Given the description of an element on the screen output the (x, y) to click on. 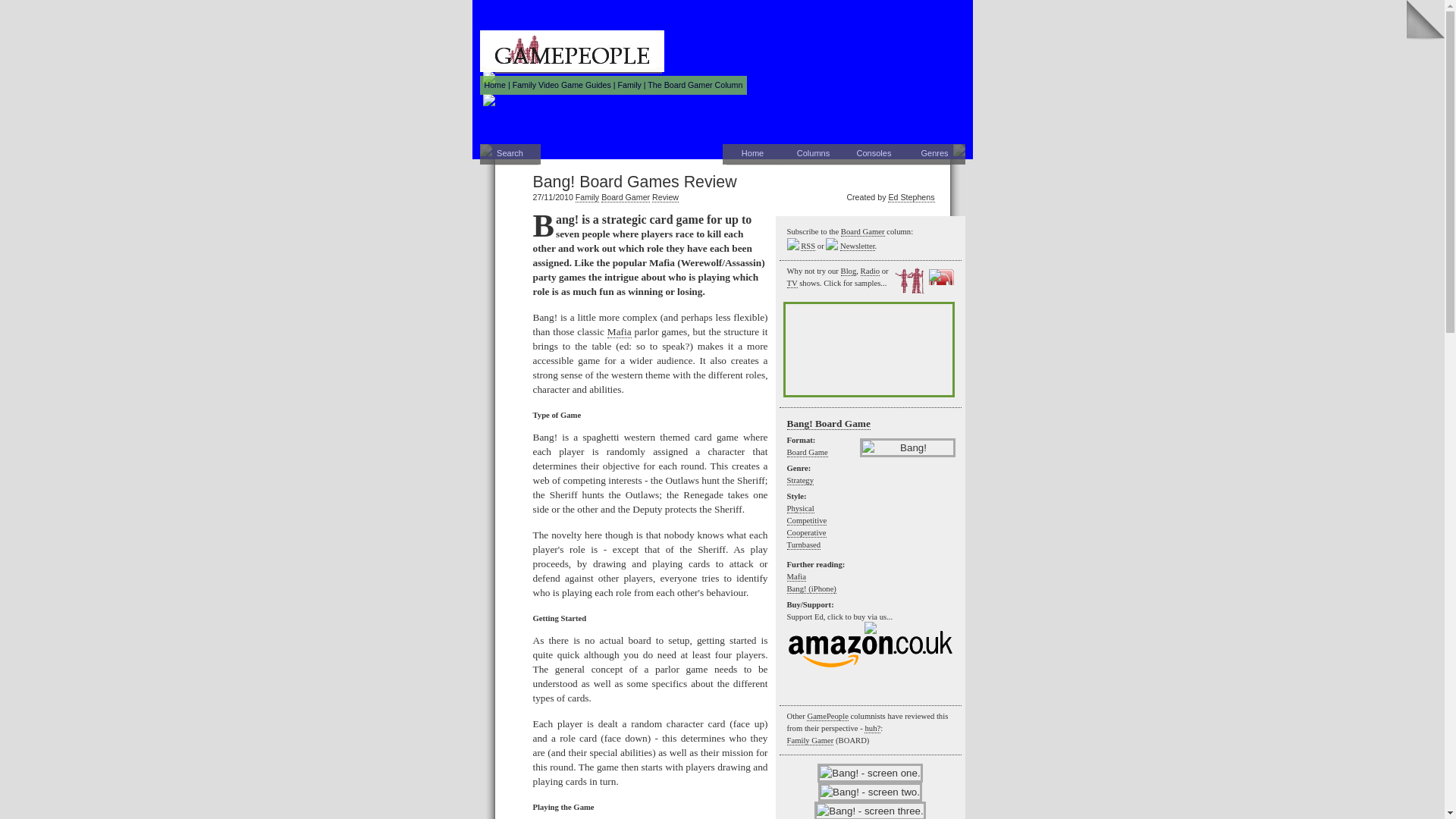
The Board Gamer Column (694, 84)
Home (494, 84)
Search (509, 154)
Family (586, 197)
Ed Stephens (911, 197)
Play-style (807, 532)
Review (665, 197)
Board Gamer (625, 197)
Home (494, 84)
Breadcrumb Trail (612, 85)
Columns (813, 154)
Column (694, 84)
Play-style (807, 520)
Family Video Game Guides (561, 84)
Bang! - screen three. (868, 810)
